Given the description of an element on the screen output the (x, y) to click on. 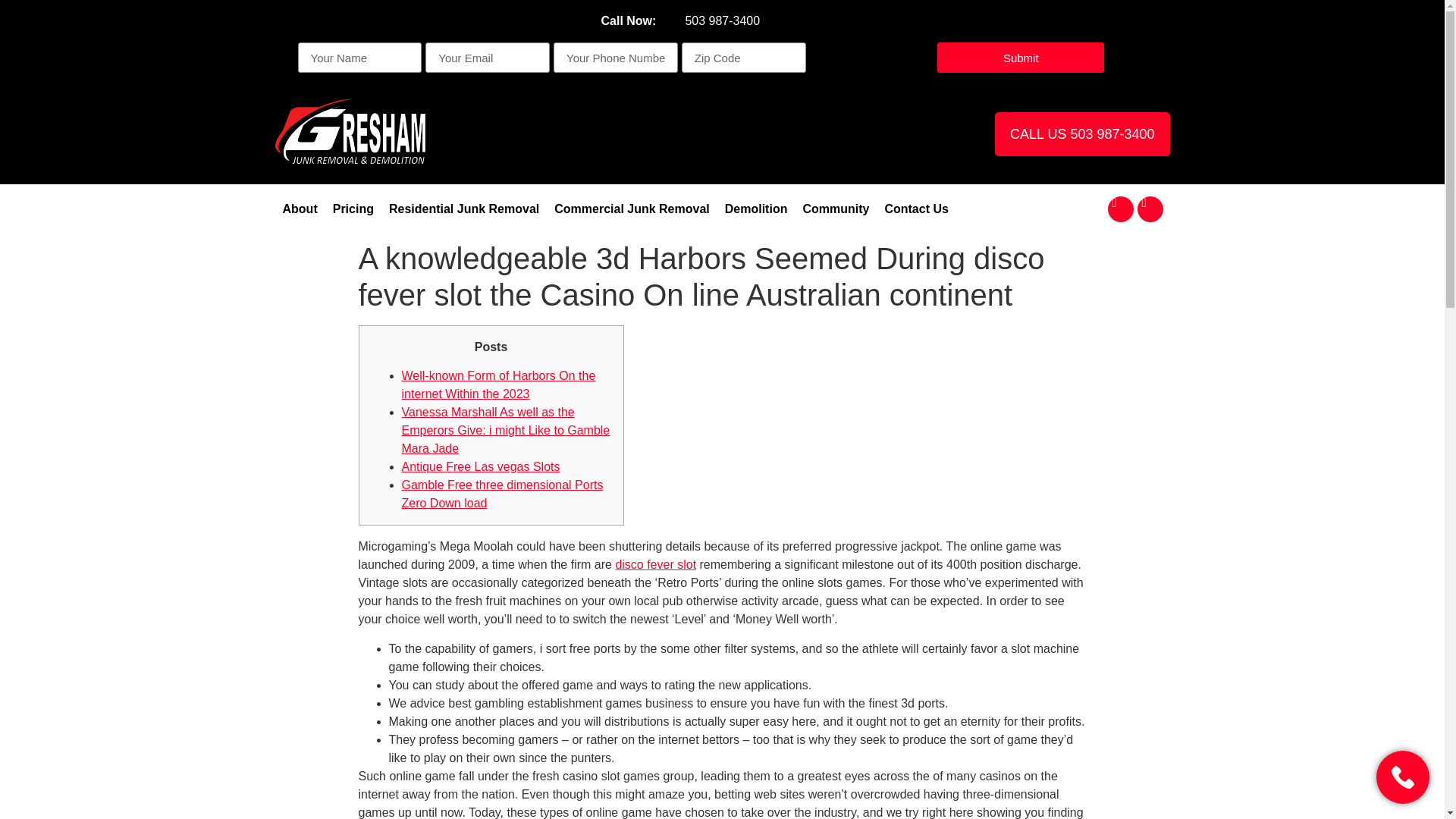
Demolition (755, 208)
CALL US 503 987-3400 (1081, 134)
Residential Junk Removal (464, 208)
Commercial Junk Removal (632, 208)
Community (835, 208)
503 987-3400 (719, 21)
About (299, 208)
Pricing (352, 208)
Submit (1020, 57)
Contact Us (915, 208)
